Given the description of an element on the screen output the (x, y) to click on. 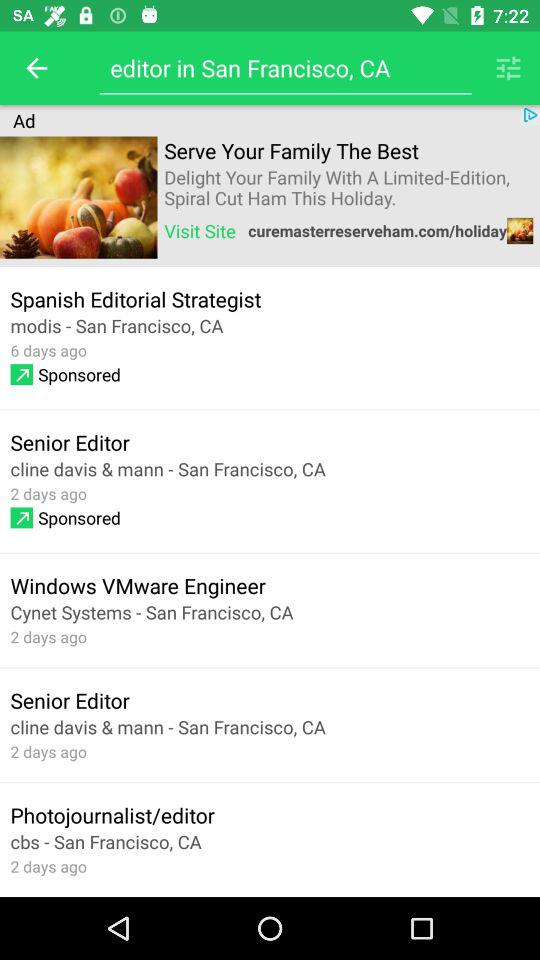
launch the item next to editor in san icon (508, 67)
